Given the description of an element on the screen output the (x, y) to click on. 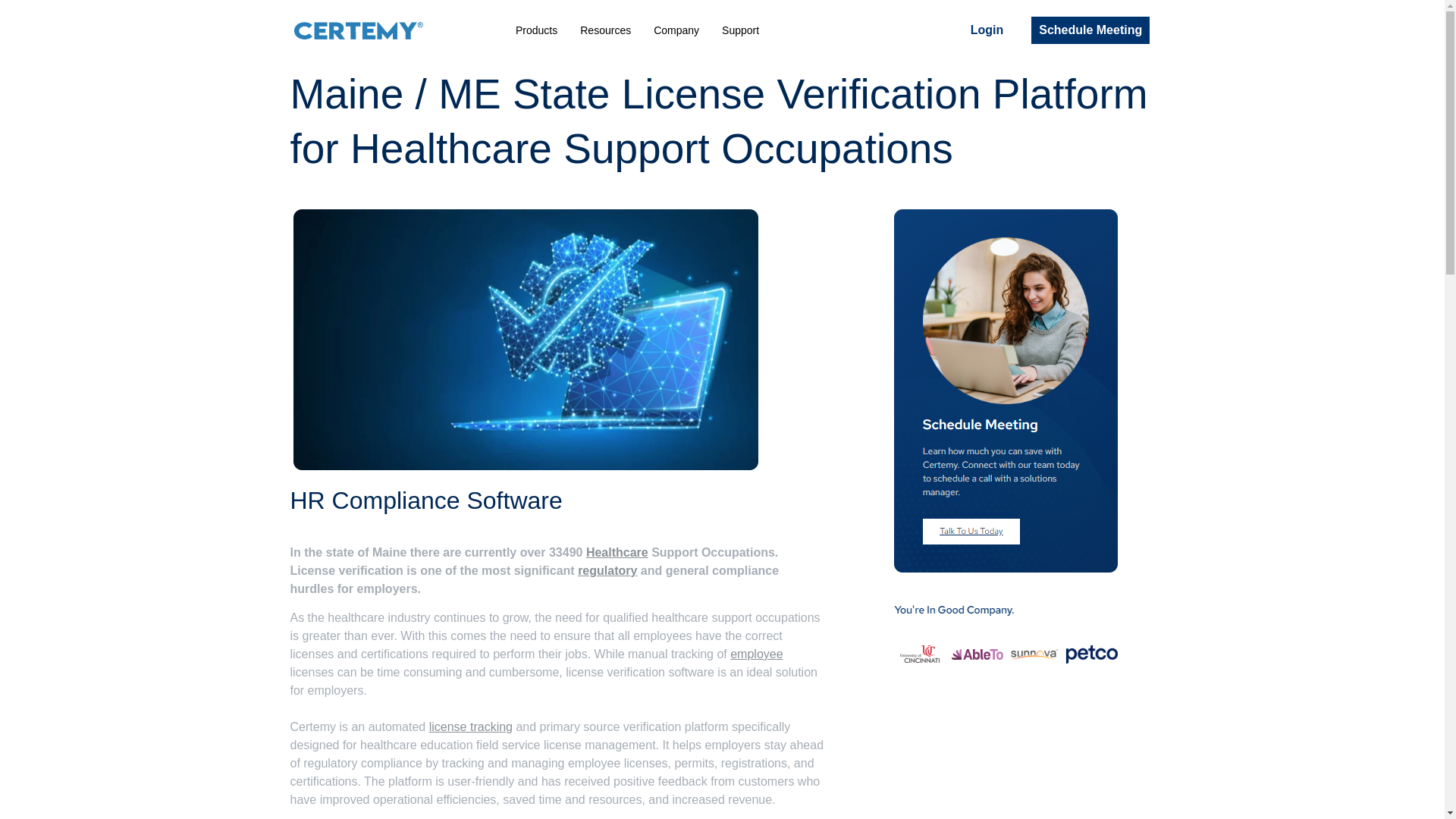
employee (756, 653)
Schedule Meeting (1090, 30)
Support (740, 30)
license tracking (470, 726)
Healthcare (616, 552)
License Tracking (470, 726)
Healthcare (616, 552)
Regulatory (607, 570)
Workforce (756, 653)
Login (986, 30)
